Given the description of an element on the screen output the (x, y) to click on. 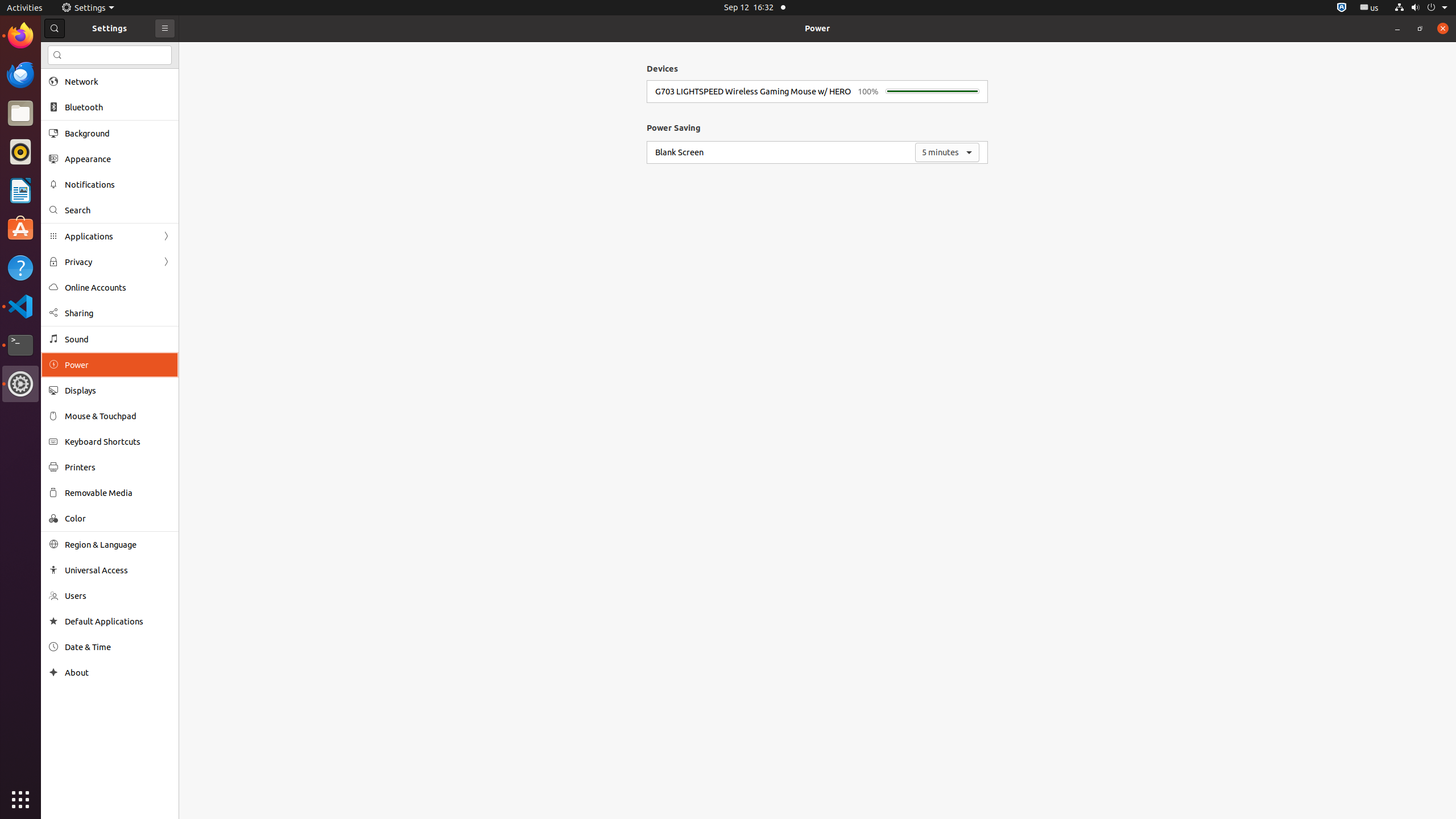
G703 LIGHTSPEED Wireless Gaming Mouse w/ HERO Element type: label (752, 91)
5 minutes Element type: combo-box (947, 152)
Blank Screen Element type: label (679, 151)
Users Element type: label (117, 595)
